Given the description of an element on the screen output the (x, y) to click on. 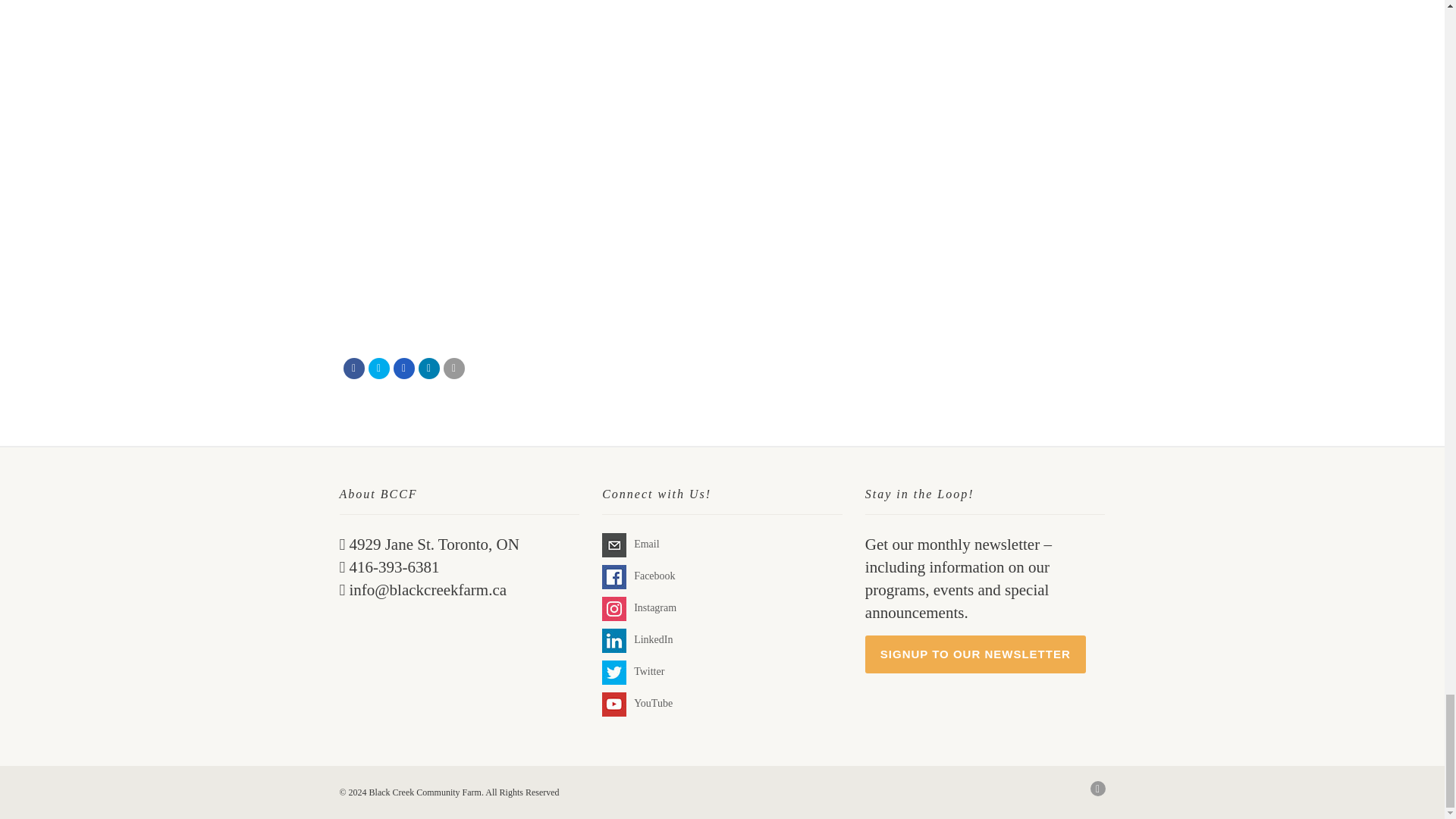
Instagram (614, 608)
Facebook (614, 576)
Email (453, 368)
Tweet (379, 368)
Share on Facebook (353, 368)
Share on Linkedin (429, 368)
Email (614, 545)
